Given the description of an element on the screen output the (x, y) to click on. 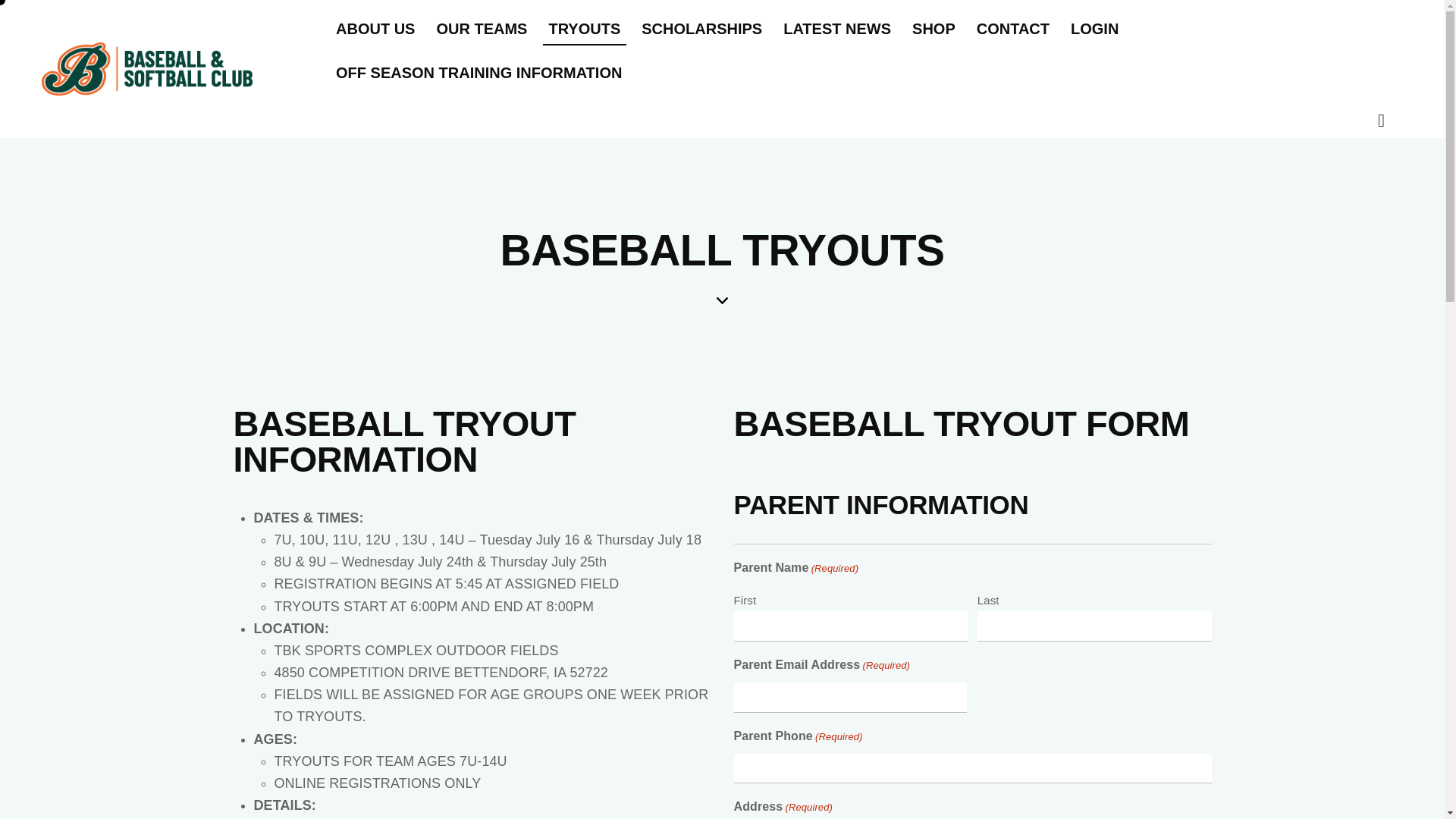
LOGIN (1094, 28)
CONTACT (1012, 28)
TRYOUTS (583, 28)
SHOP (933, 28)
SCHOLARSHIPS (701, 28)
ABOUT US (374, 28)
LATEST NEWS (837, 28)
OUR TEAMS (481, 28)
OFF SEASON TRAINING INFORMATION (477, 72)
